Given the description of an element on the screen output the (x, y) to click on. 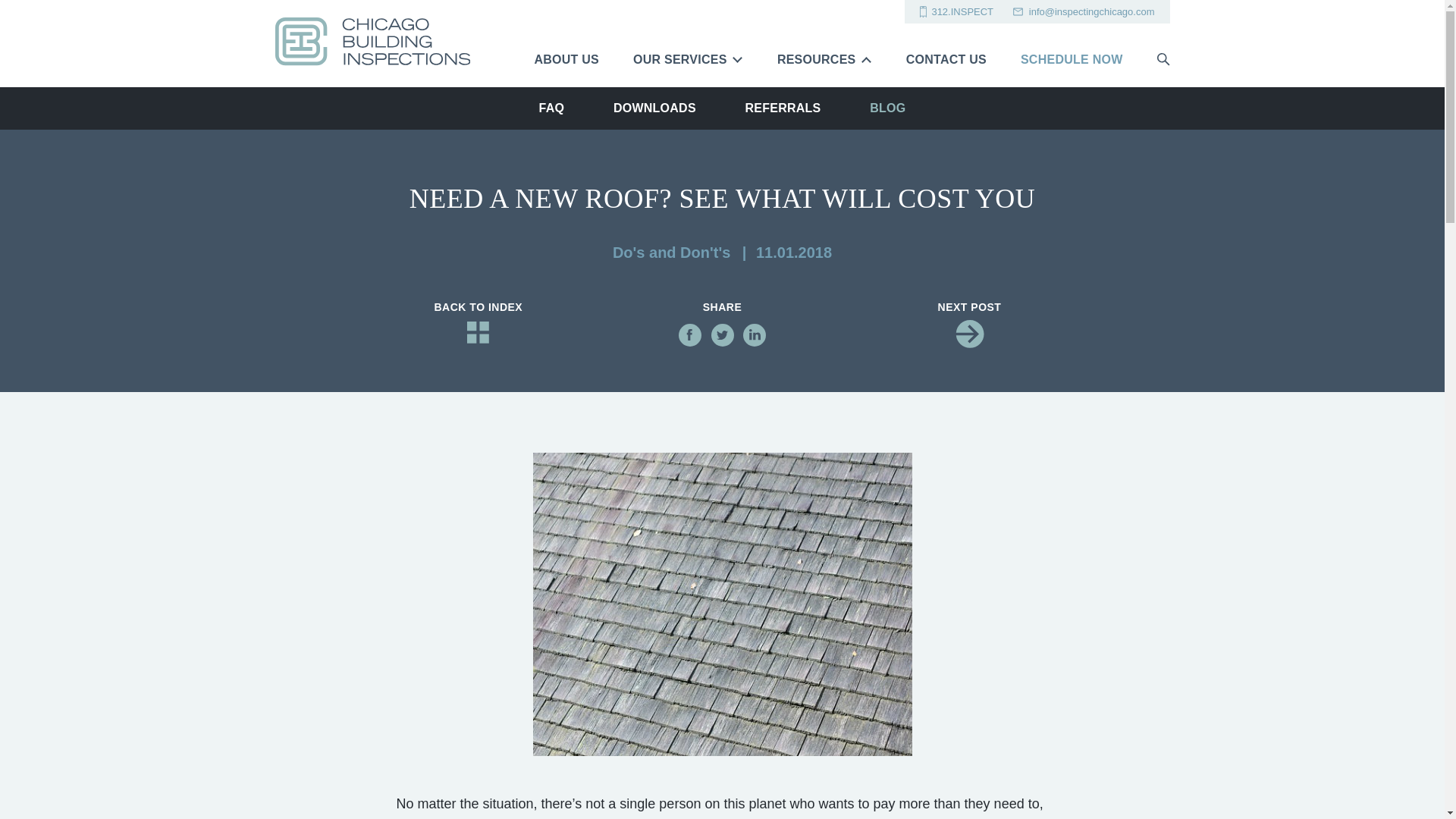
SEARCH CREATED WITH SKETCH. (1163, 59)
SCHEDULE NOW (1071, 60)
arrow Created with Sketch. (969, 335)
312.INSPECT (956, 11)
WHY CBI (773, 21)
DOWNLOADS (653, 108)
grid Created with Sketch. (478, 332)
PRICING (671, 21)
CONTACT US (946, 60)
ABOUT US (566, 60)
